Given the description of an element on the screen output the (x, y) to click on. 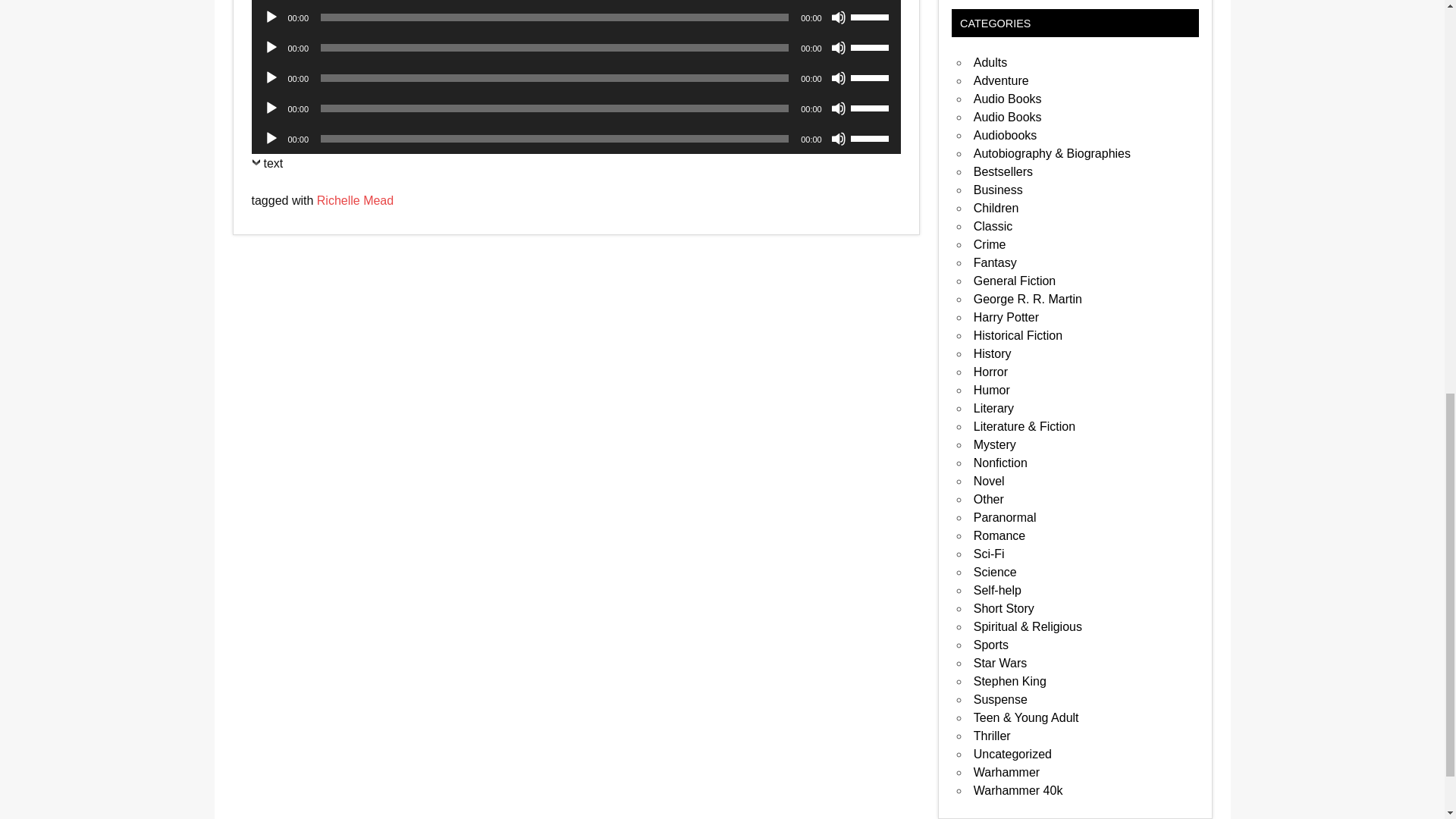
Play (271, 108)
Play (271, 77)
Mute (838, 77)
Play (271, 47)
Mute (838, 47)
Play (271, 17)
Mute (838, 17)
